Given the description of an element on the screen output the (x, y) to click on. 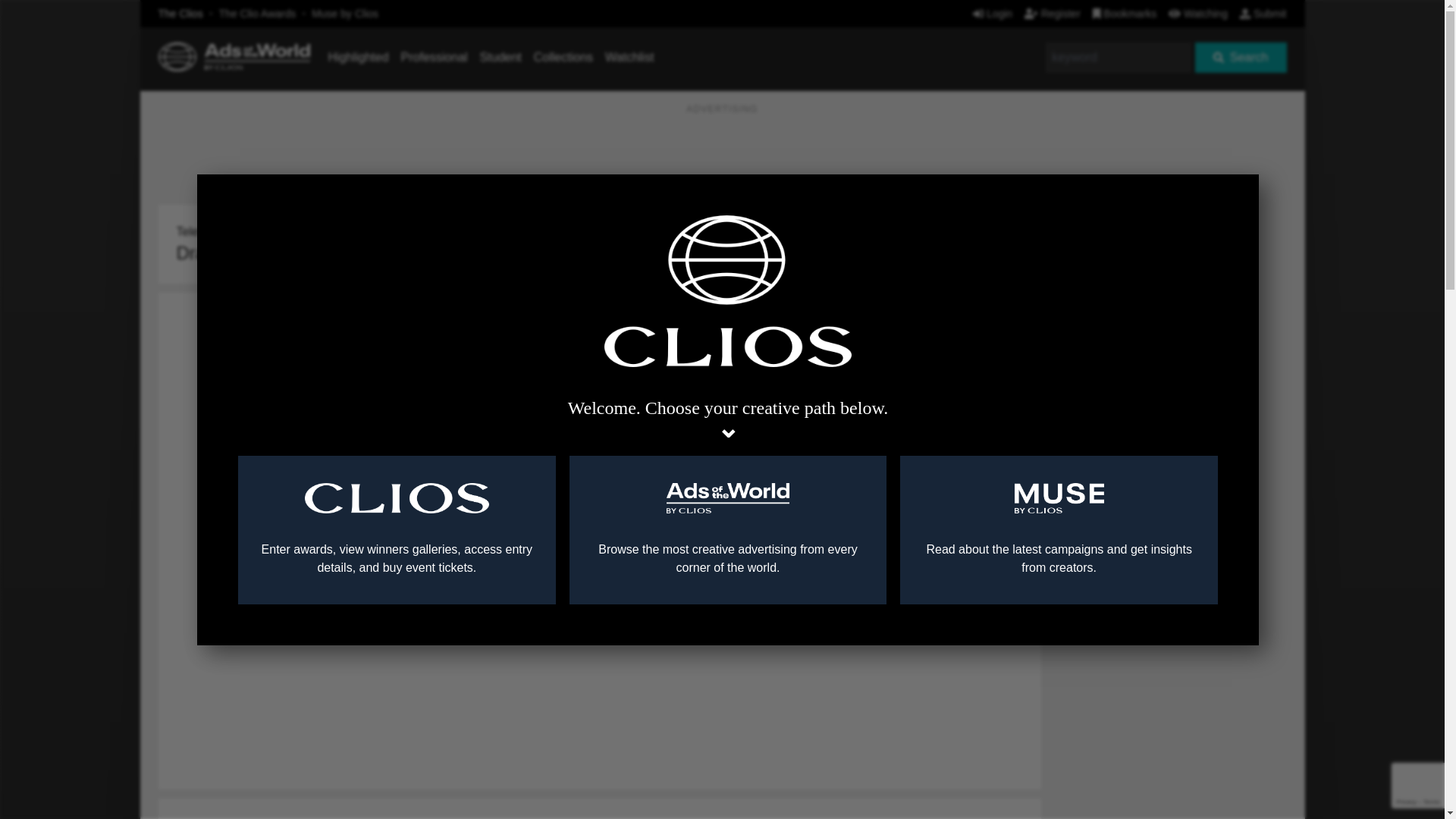
Collections (563, 56)
Muse by Clios (344, 13)
Professional (434, 56)
Search (1241, 57)
Login (991, 13)
The Clio Awards (258, 13)
Highlighted (357, 56)
Bookmarks (1125, 13)
Student (500, 56)
Register (1052, 13)
Watching (1198, 13)
Login to Bookmark (1018, 209)
Bookmarks (1125, 13)
Watching (1198, 13)
Submit (1263, 13)
